Given the description of an element on the screen output the (x, y) to click on. 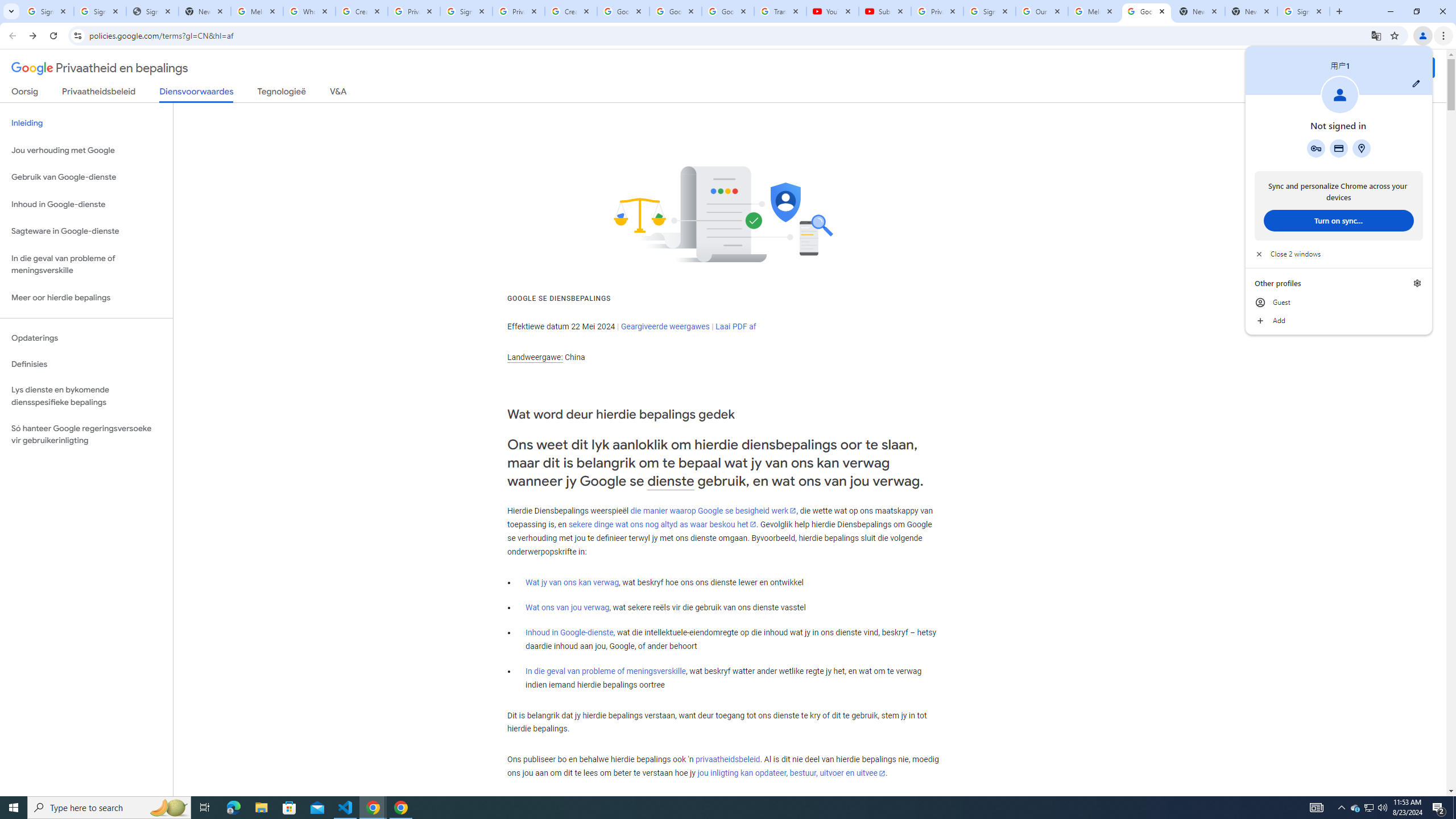
Meer oor hierdie bepalings (86, 298)
Google Chrome - 1 running window (400, 807)
Sign in - Google Accounts (99, 11)
Inhoud in Google-dienste (568, 632)
Customize profile (1415, 83)
Microsoft Edge (233, 807)
